Given the description of an element on the screen output the (x, y) to click on. 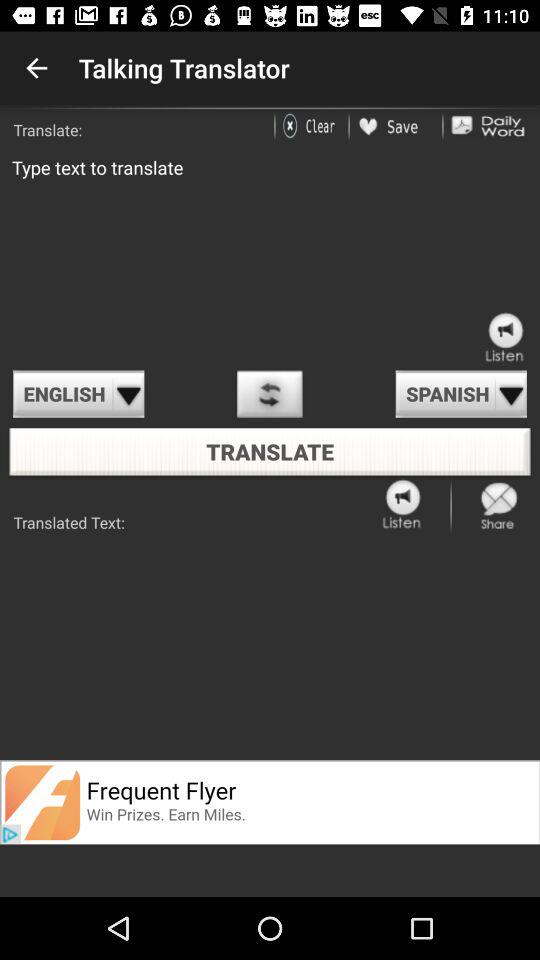
click the sound speaker (505, 338)
